Given the description of an element on the screen output the (x, y) to click on. 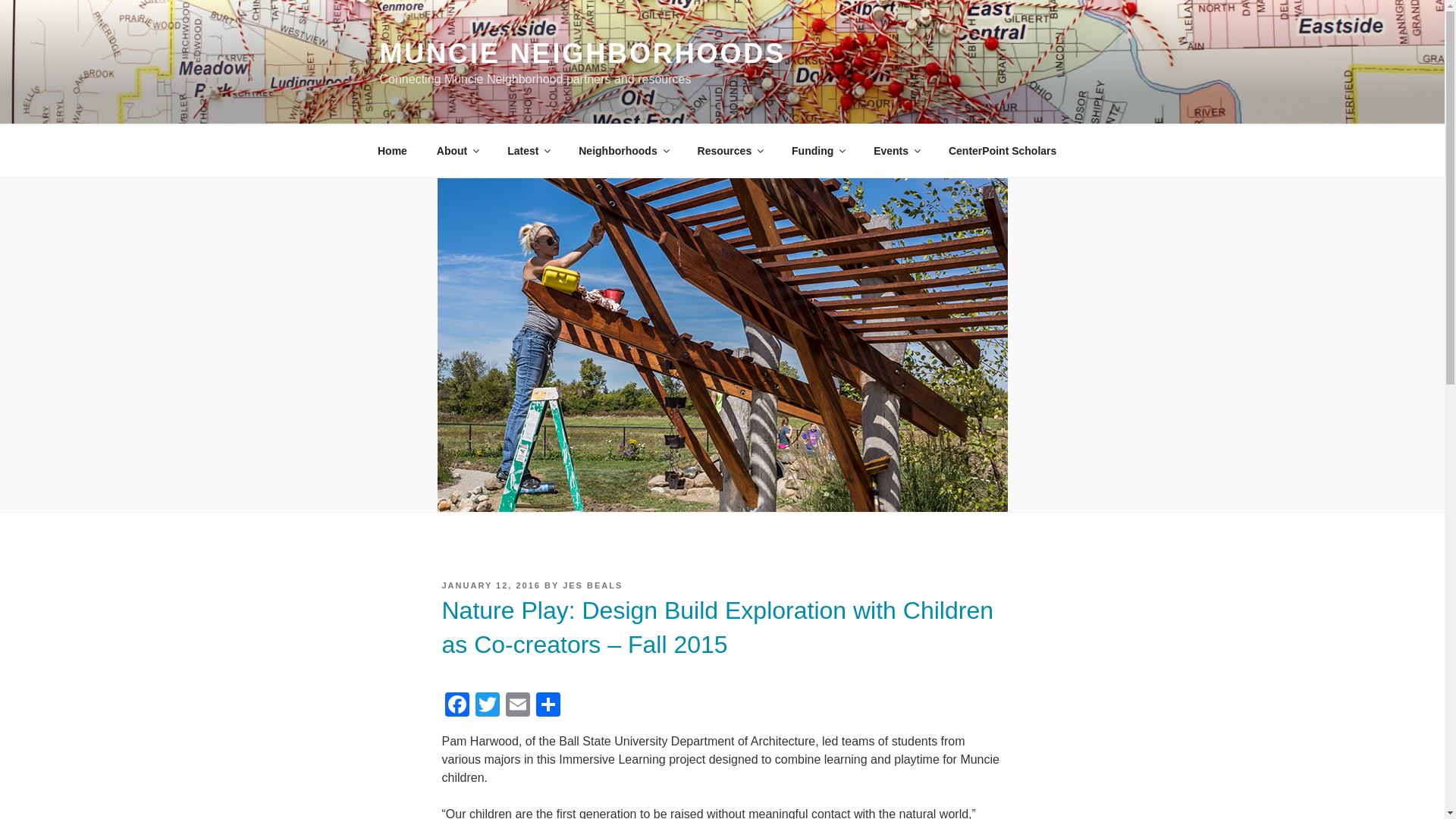
Twitter (486, 706)
MUNCIE NEIGHBORHOODS (582, 52)
Funding (817, 149)
Facebook (456, 706)
Email (517, 706)
About (456, 149)
Neighborhoods (623, 149)
Home (392, 149)
Latest (528, 149)
Resources (730, 149)
